Given the description of an element on the screen output the (x, y) to click on. 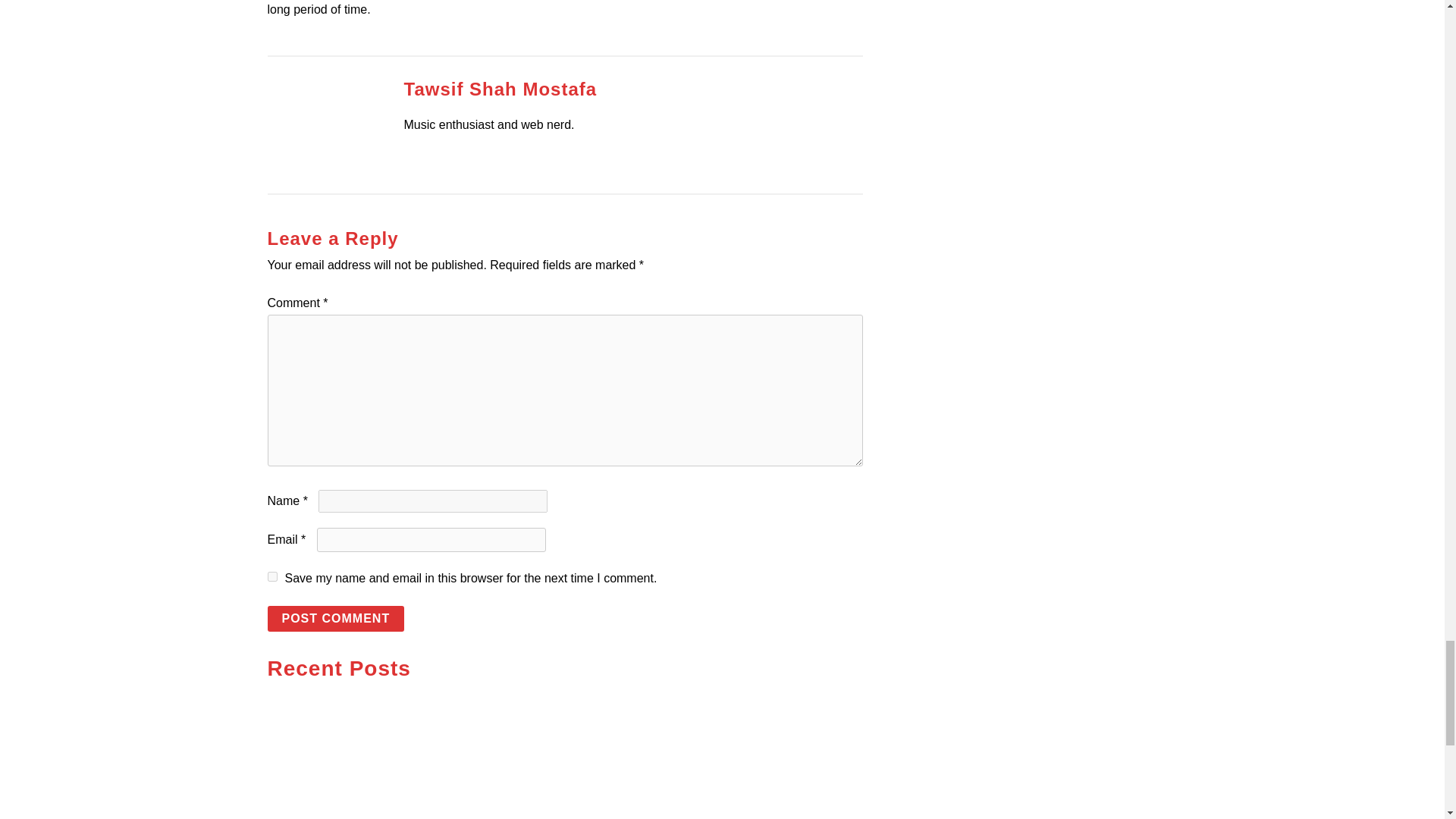
Post Comment (335, 618)
link to Zager Guitar Reviews: Unveiling the Best Models (408, 759)
Tawsif Shah Mostafa (499, 88)
Post Comment (335, 618)
yes (271, 576)
